Given the description of an element on the screen output the (x, y) to click on. 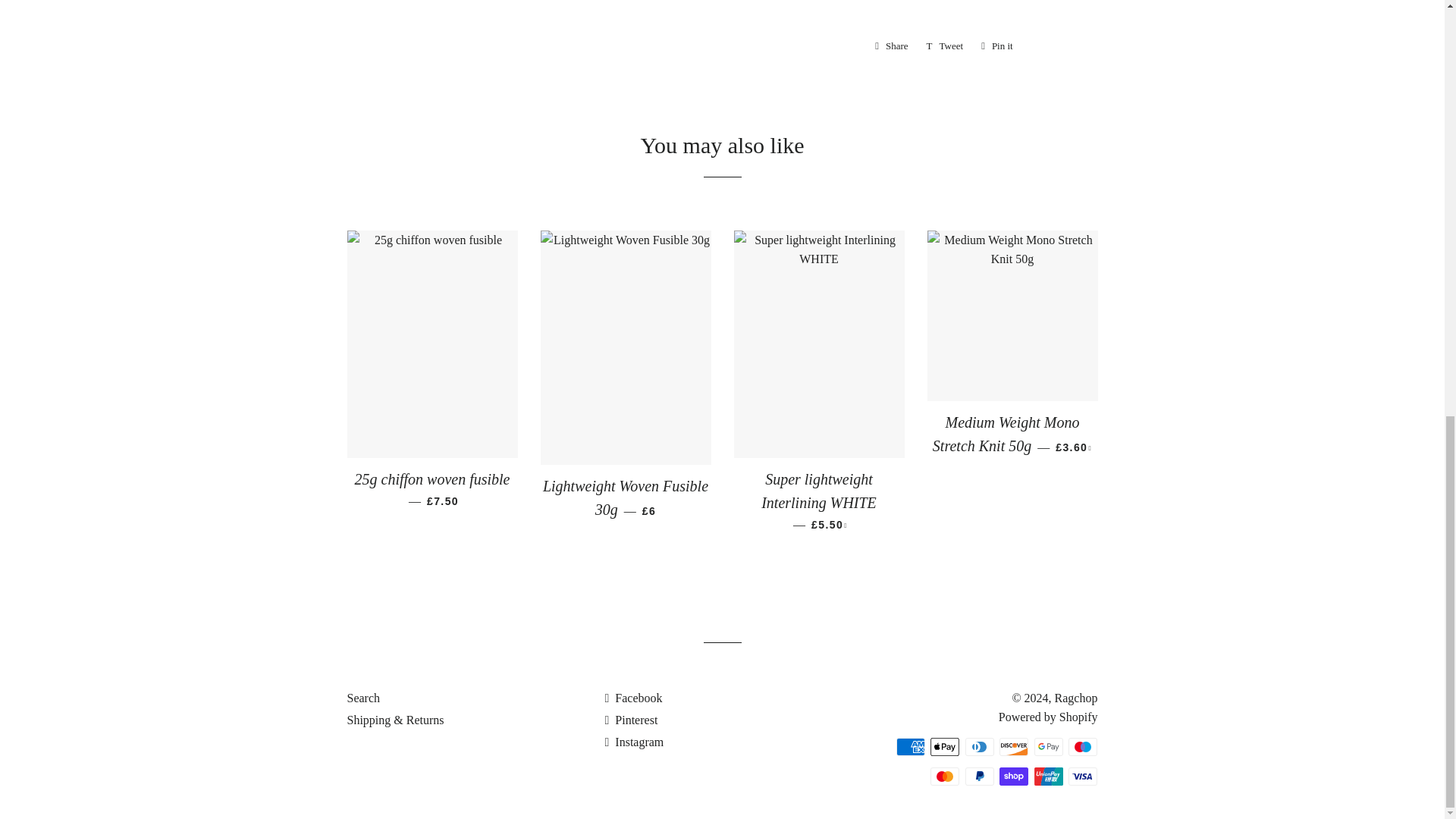
Discover (1012, 746)
Diners Club (979, 746)
Mastercard (944, 776)
Share on Facebook (891, 46)
Tweet on Twitter (944, 46)
American Express (910, 746)
Ragchop on Pinterest (631, 719)
Ragchop on Instagram (633, 741)
Ragchop on Facebook (633, 697)
Shop Pay (1012, 776)
Apple Pay (944, 746)
Google Pay (1047, 746)
Visa (1082, 776)
Union Pay (1047, 776)
PayPal (979, 776)
